Given the description of an element on the screen output the (x, y) to click on. 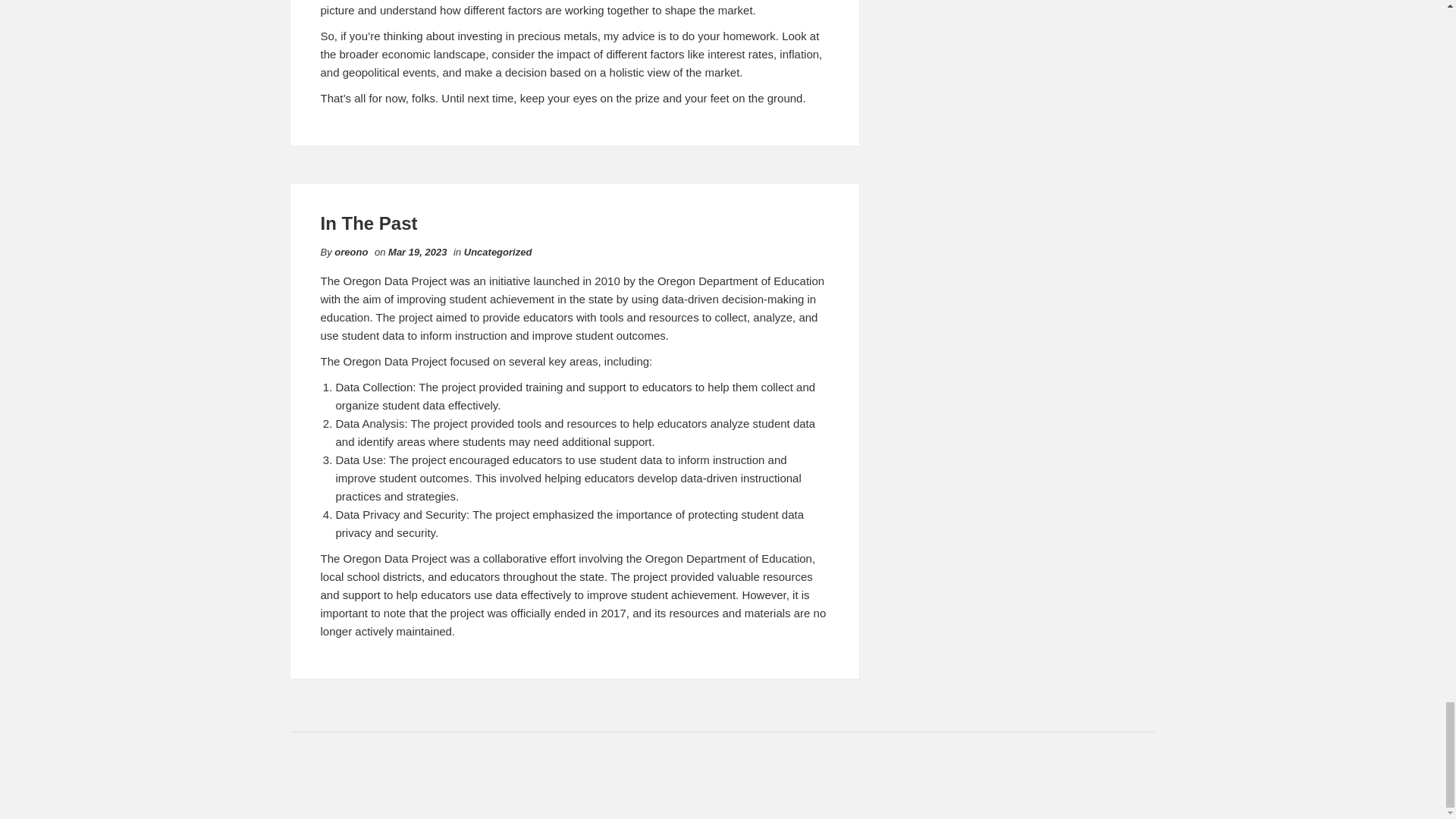
Uncategorized (498, 251)
oreono (351, 251)
In The Past (368, 222)
